Given the description of an element on the screen output the (x, y) to click on. 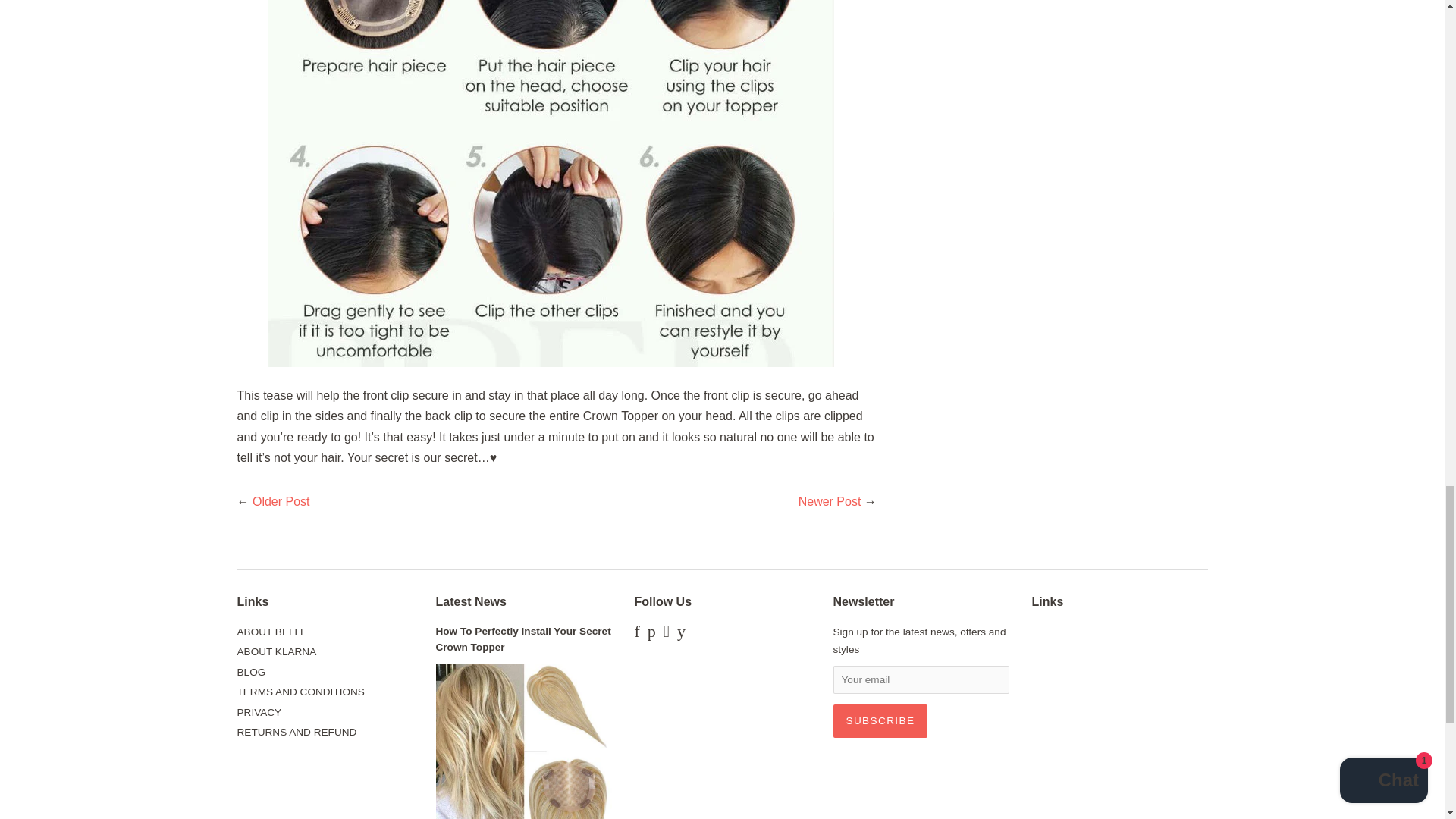
Subscribe (879, 720)
